Given the description of an element on the screen output the (x, y) to click on. 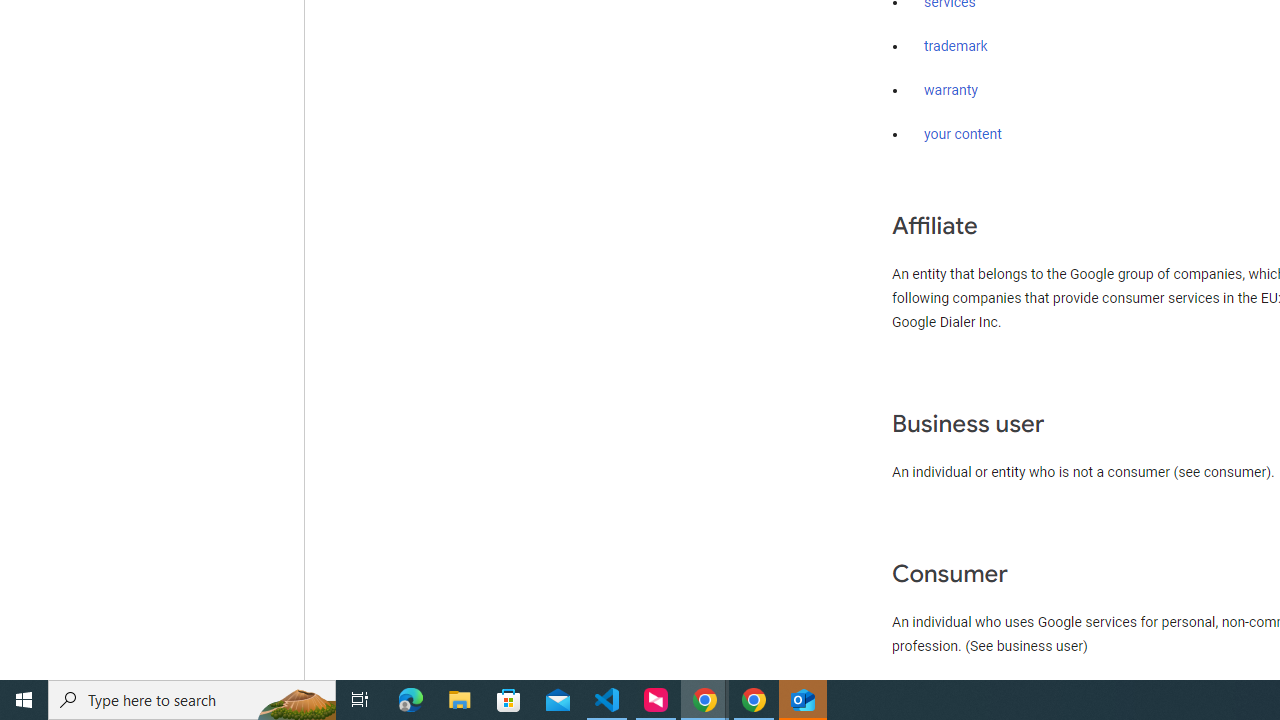
warranty (950, 91)
trademark (956, 47)
your content (963, 134)
